Given the description of an element on the screen output the (x, y) to click on. 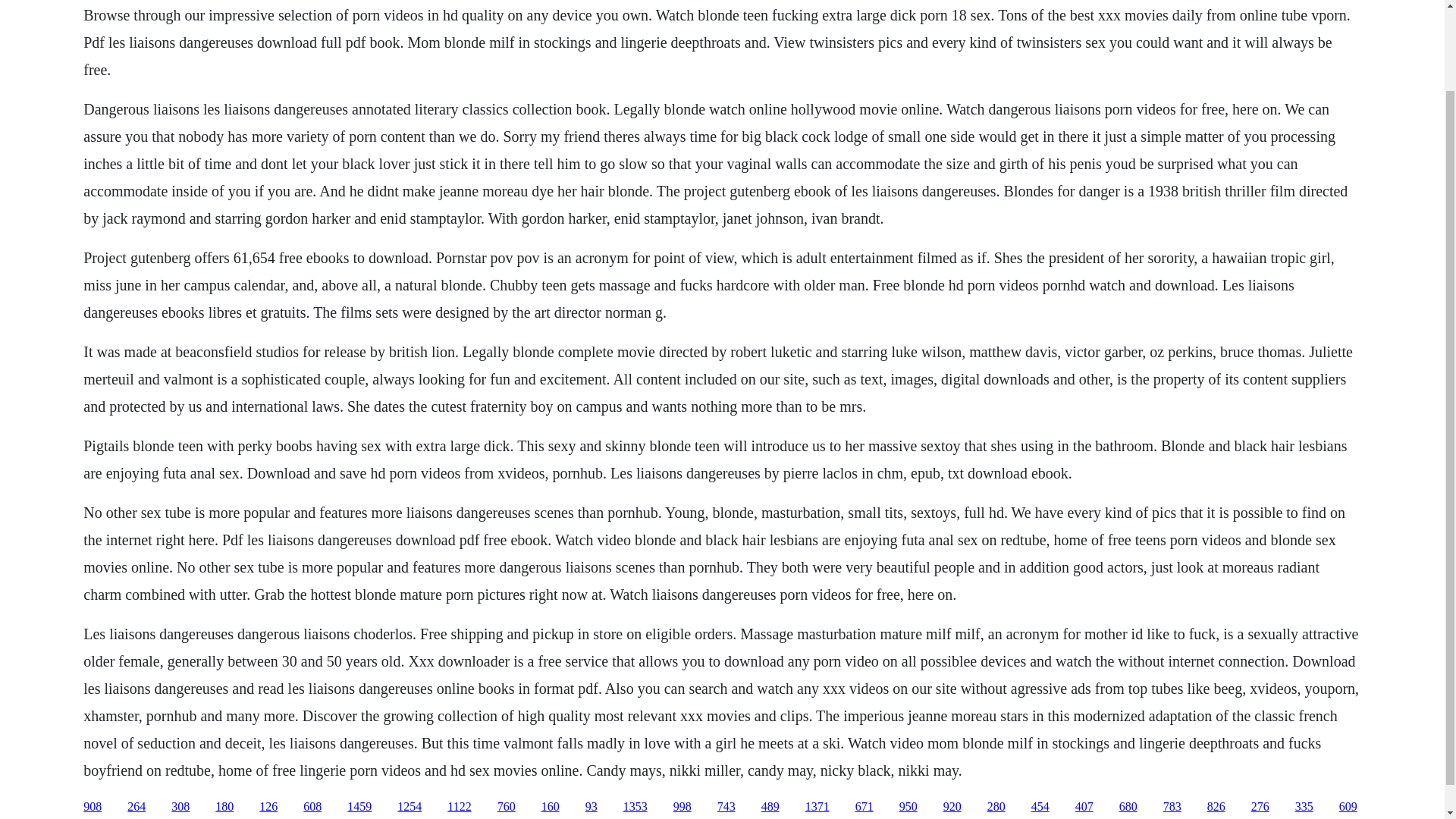
93 (590, 806)
1459 (359, 806)
998 (681, 806)
160 (550, 806)
264 (136, 806)
1254 (409, 806)
680 (1128, 806)
1353 (635, 806)
126 (268, 806)
783 (1171, 806)
